Given the description of an element on the screen output the (x, y) to click on. 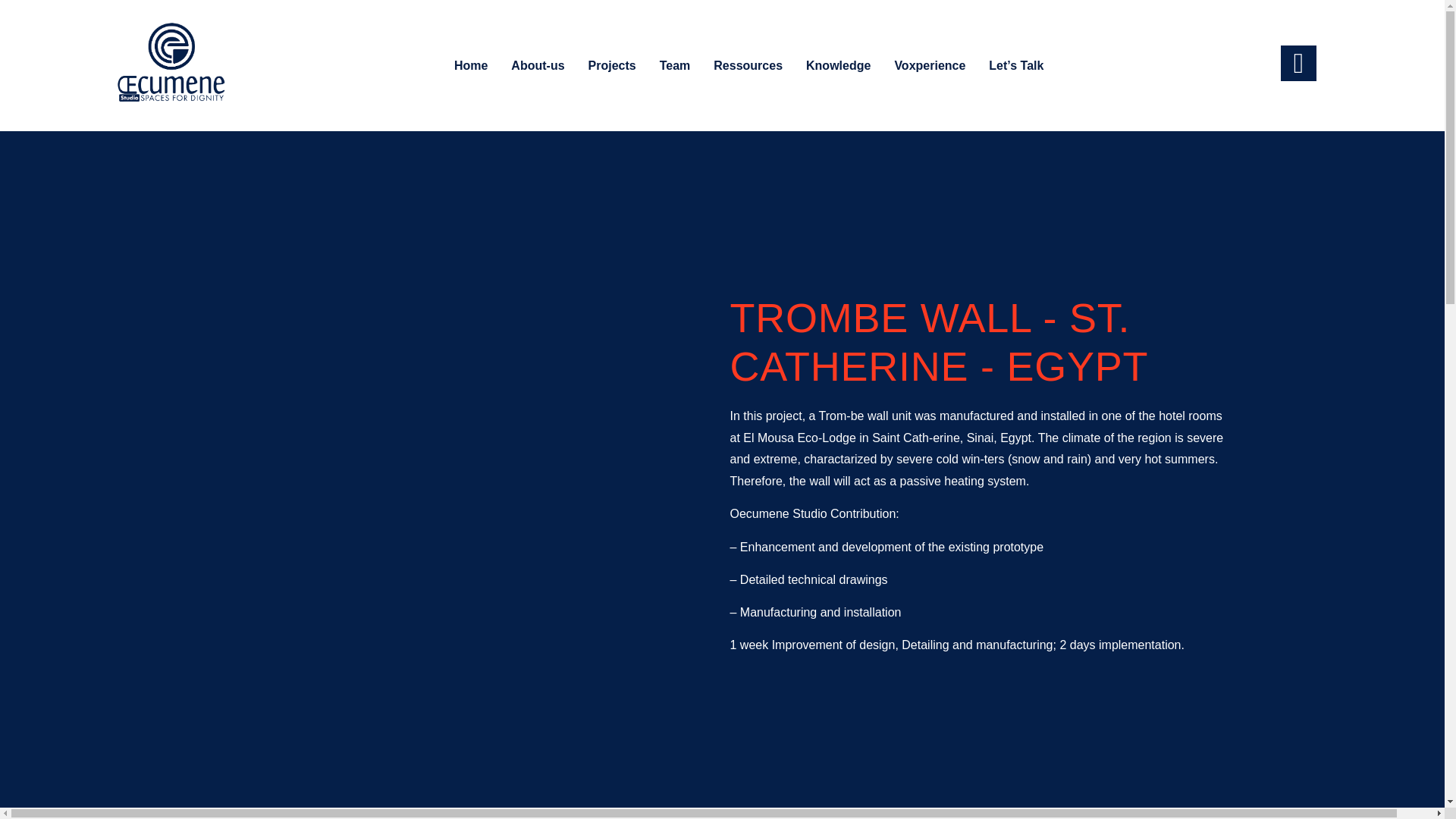
About-us (536, 65)
Home (470, 65)
Projects (612, 65)
Team (674, 65)
Ressources (747, 65)
Knowledge (838, 65)
Voxperience (929, 65)
